Given the description of an element on the screen output the (x, y) to click on. 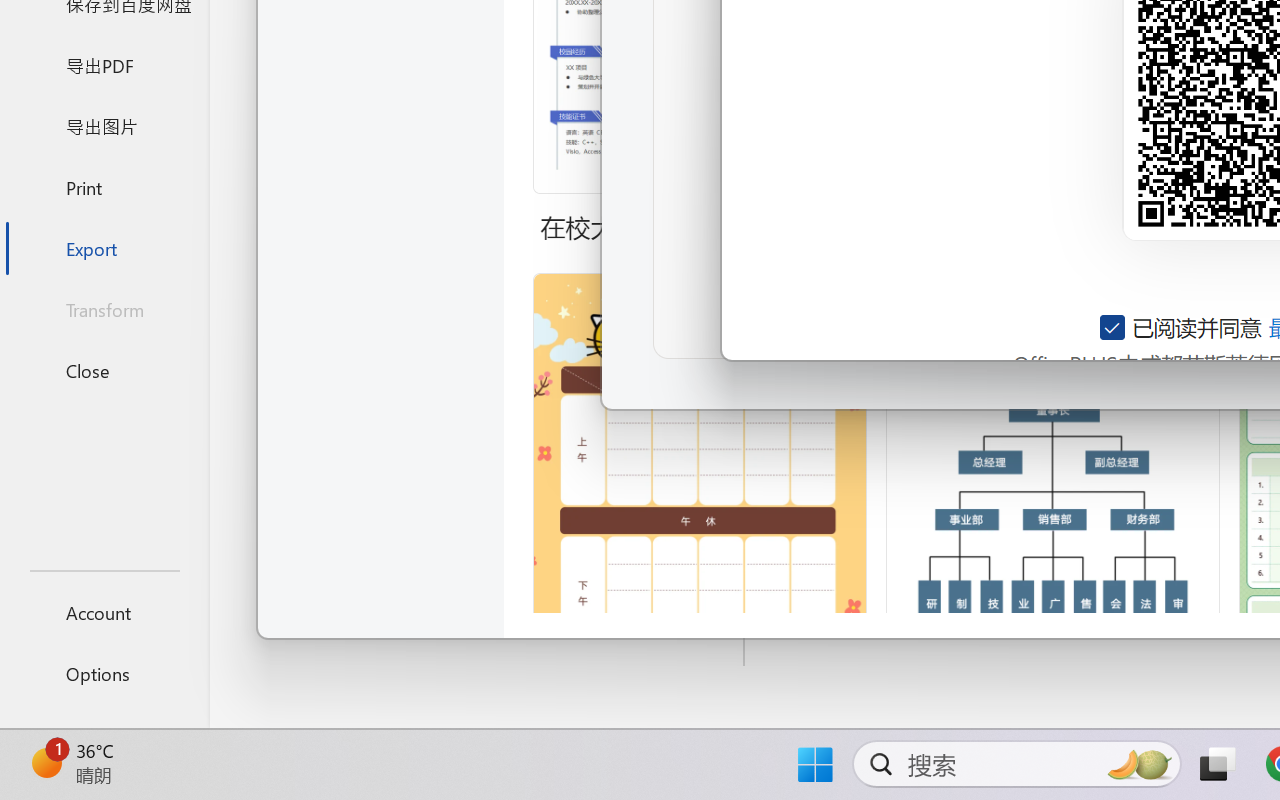
Transform (104, 309)
